Given the description of an element on the screen output the (x, y) to click on. 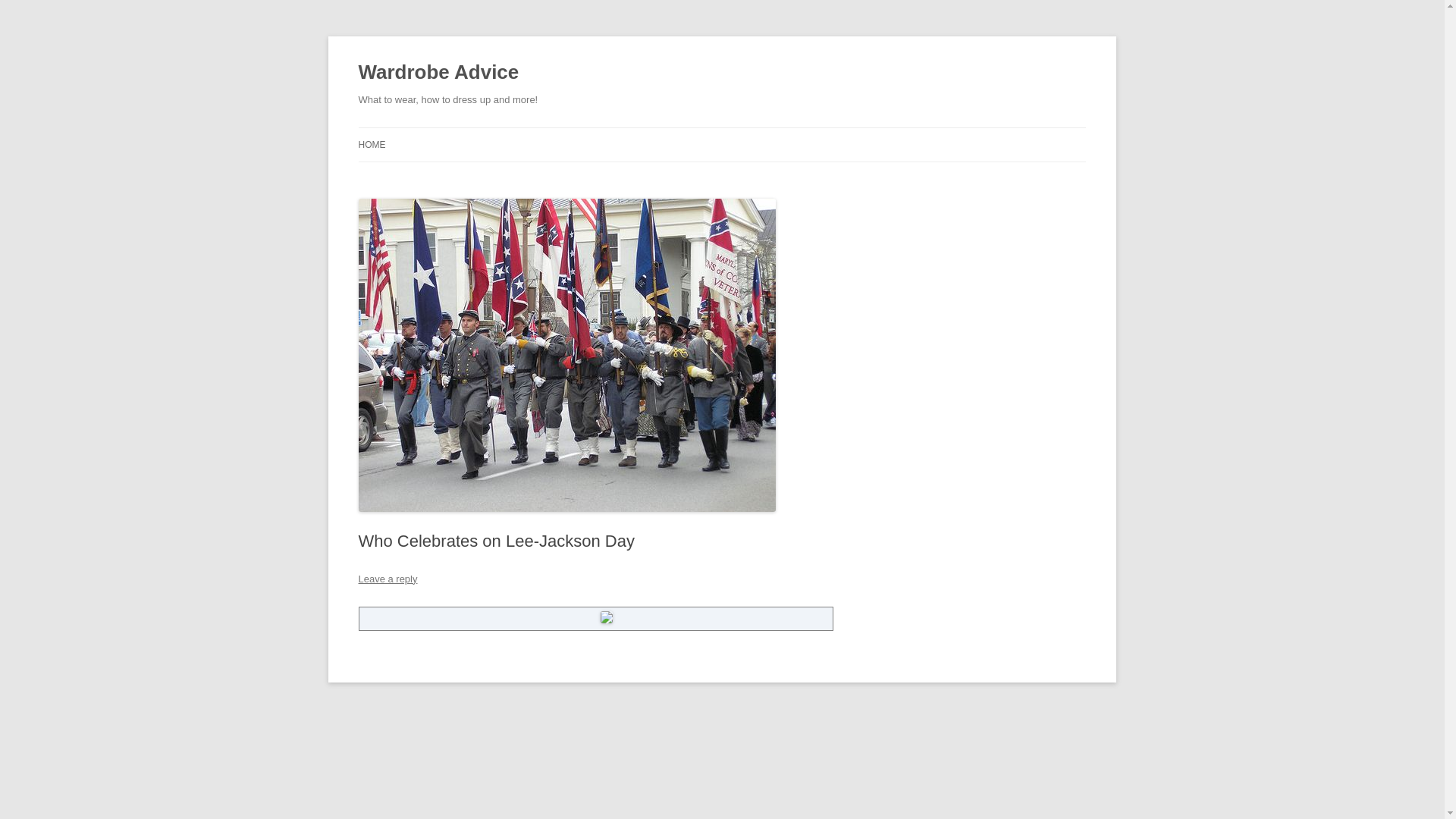
Wardrobe Advice (438, 72)
Leave a reply (387, 578)
